Given the description of an element on the screen output the (x, y) to click on. 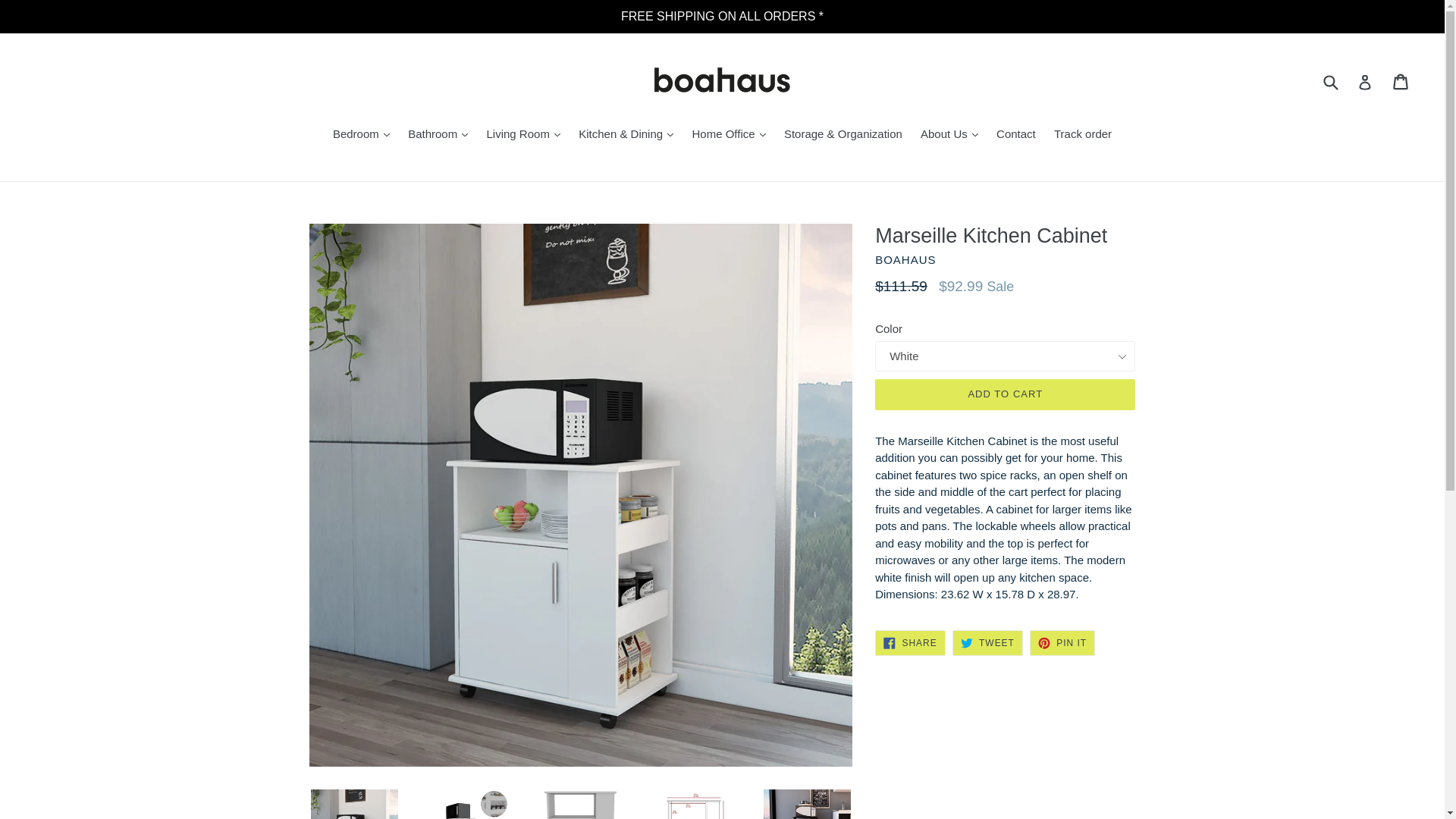
Share on Facebook (909, 642)
Tweet on Twitter (987, 642)
Pin on Pinterest (1061, 642)
